Given the description of an element on the screen output the (x, y) to click on. 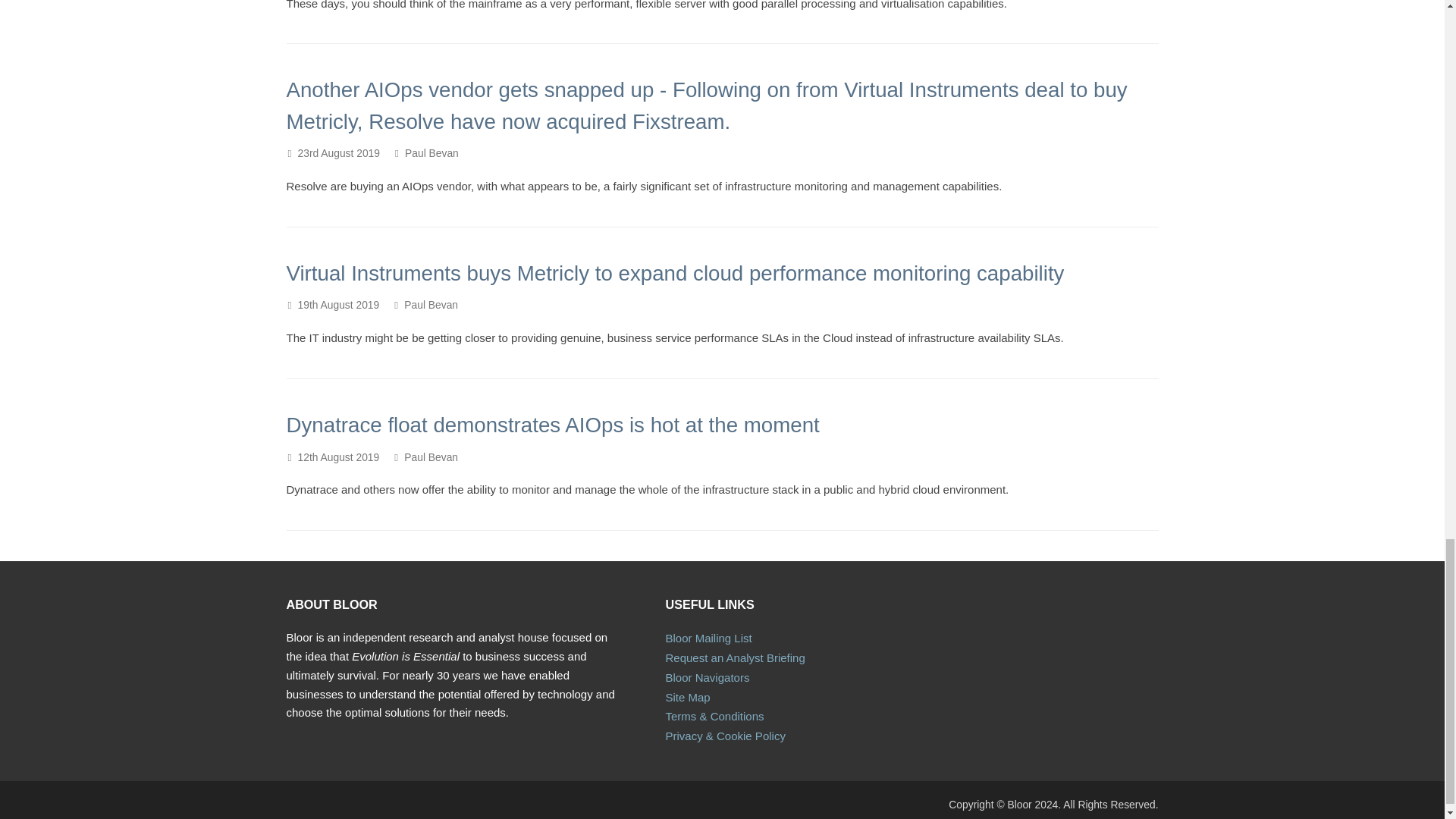
View profile for Paul Bevan (431, 304)
View profile for Paul Bevan (431, 152)
